Given the description of an element on the screen output the (x, y) to click on. 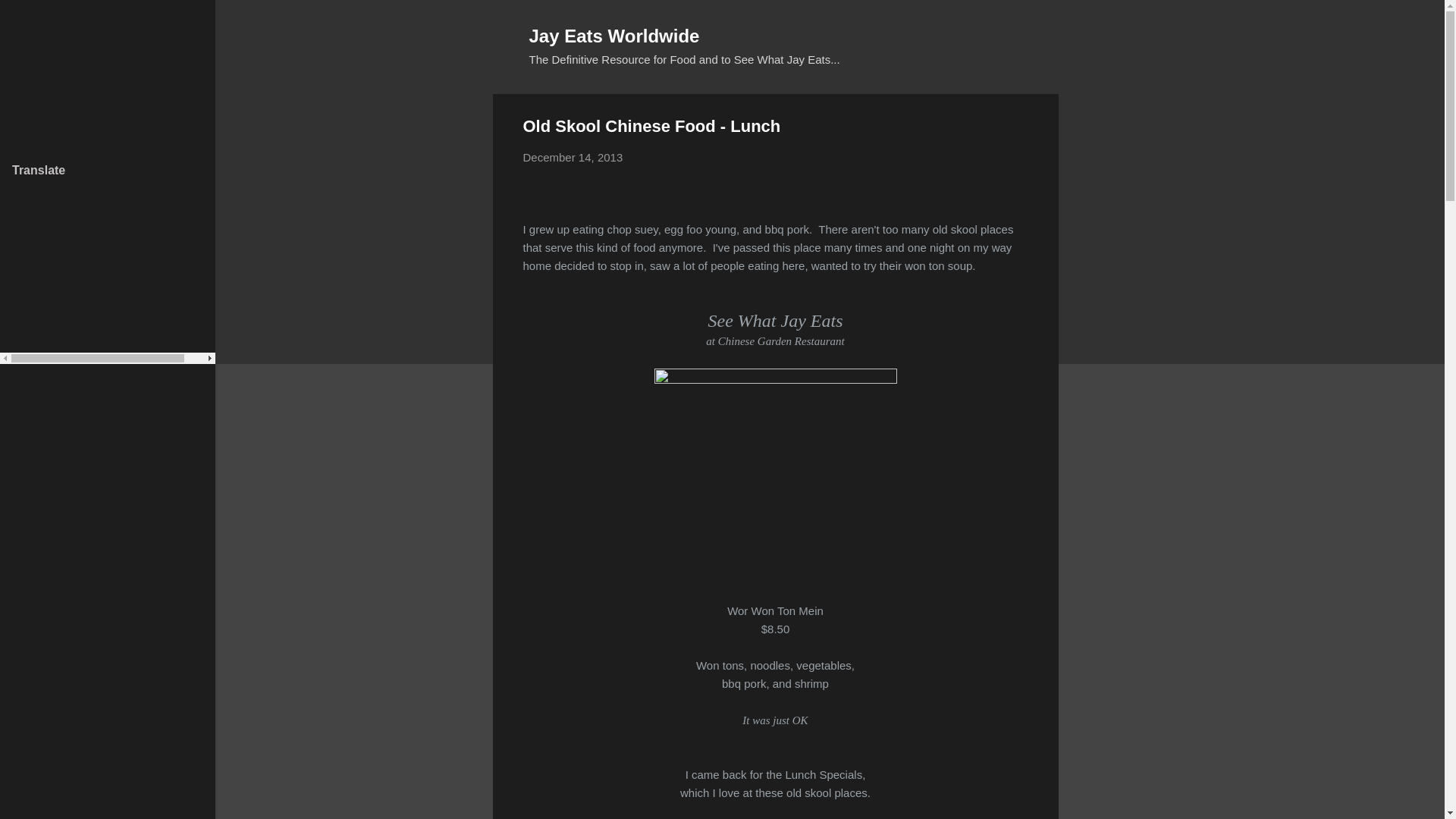
Search (29, 18)
Jay Eats Worldwide (614, 35)
permanent link (572, 156)
December 14, 2013 (572, 156)
